Given the description of an element on the screen output the (x, y) to click on. 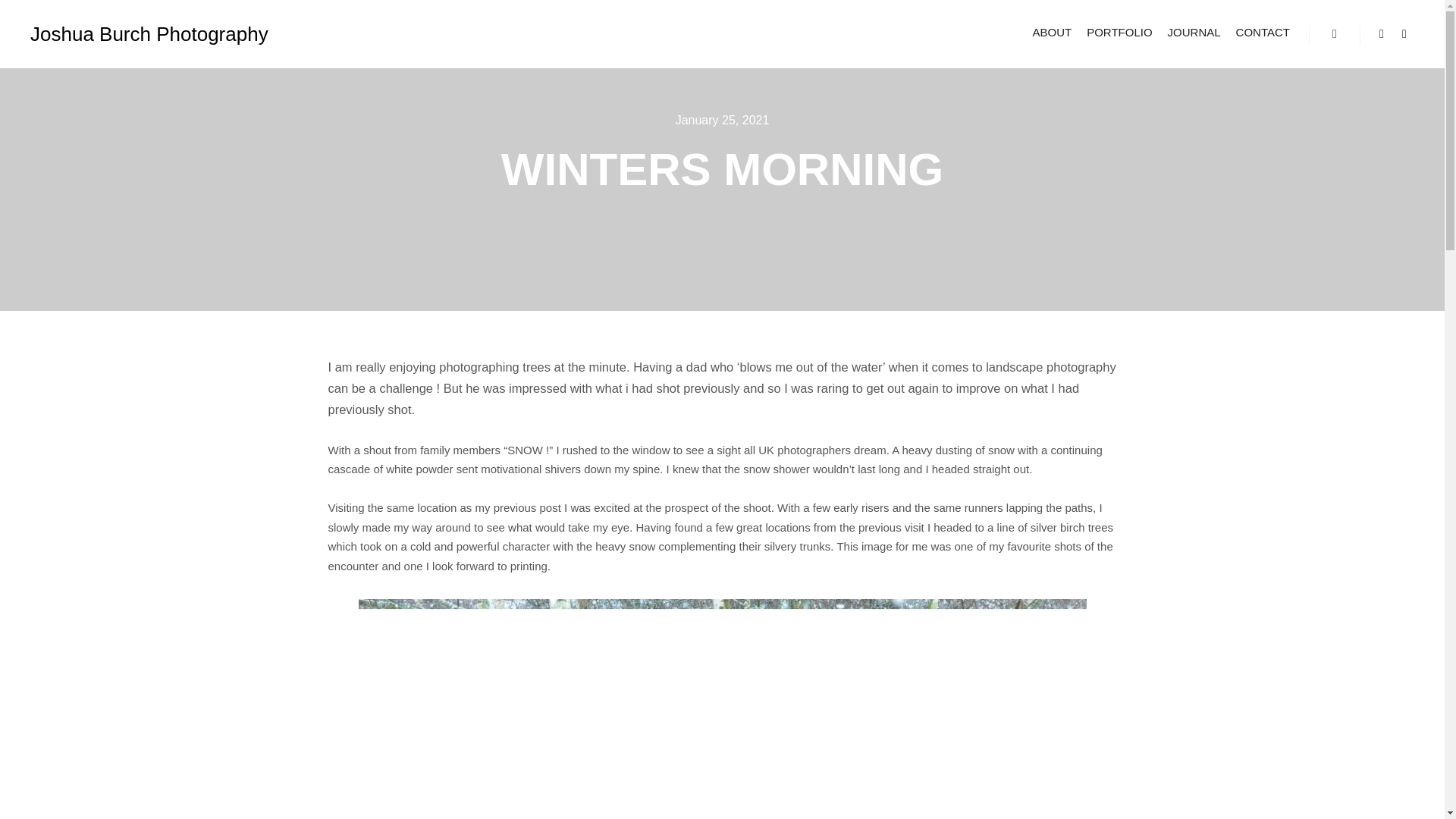
Instagram (1403, 34)
Facebook (1381, 34)
More info (1334, 34)
ABOUT (1052, 31)
Joshua Burch Photography (106, 33)
CONTACT (1262, 31)
Joshua Burch Photography (106, 33)
More info (1334, 34)
JOURNAL (1194, 31)
PORTFOLIO (1118, 31)
